Given the description of an element on the screen output the (x, y) to click on. 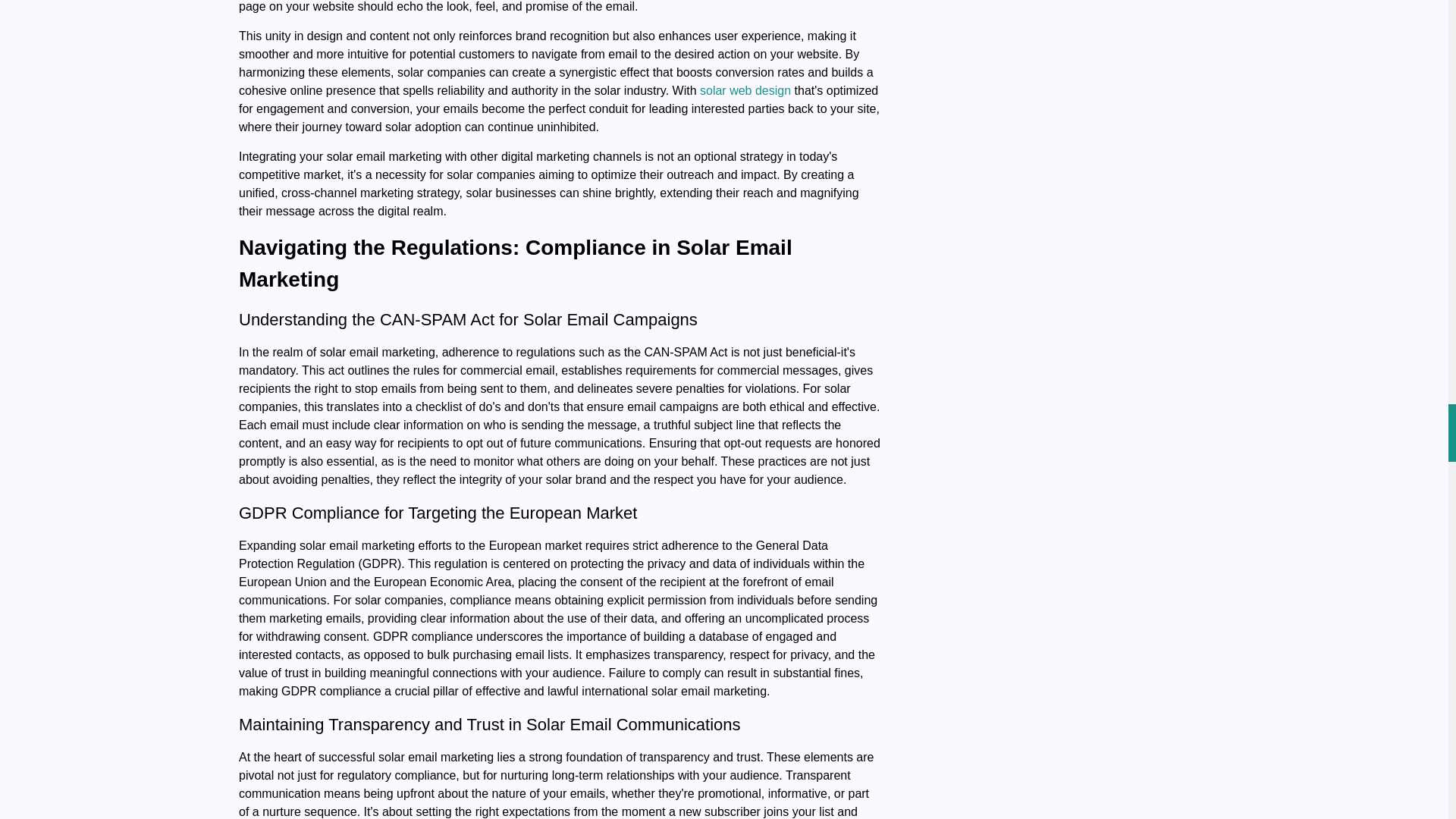
solar web design (745, 90)
